Given the description of an element on the screen output the (x, y) to click on. 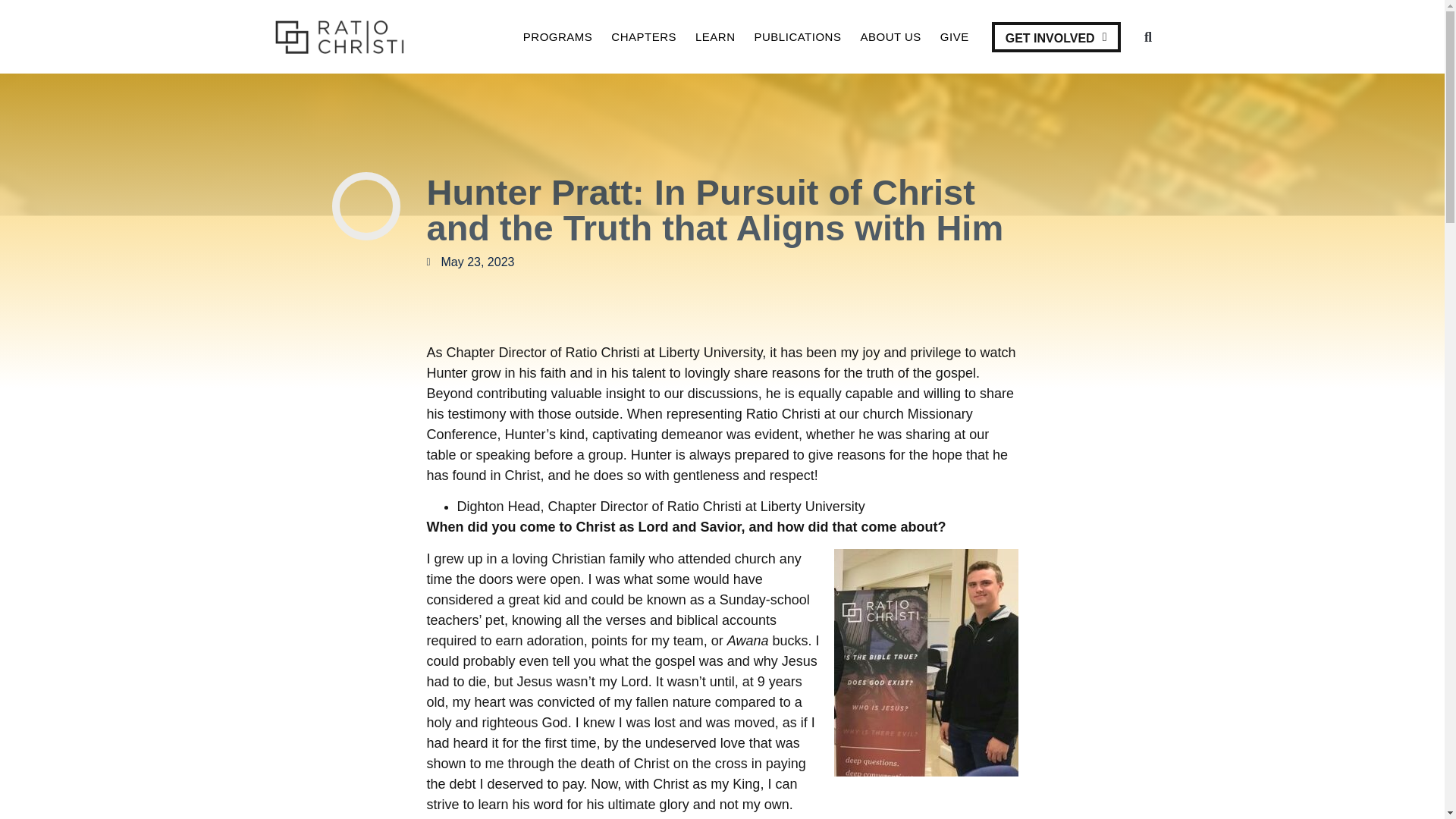
ABOUT US (890, 36)
CHAPTERS (644, 36)
PUBLICATIONS (797, 36)
PROGRAMS (557, 36)
LEARN (715, 36)
